Given the description of an element on the screen output the (x, y) to click on. 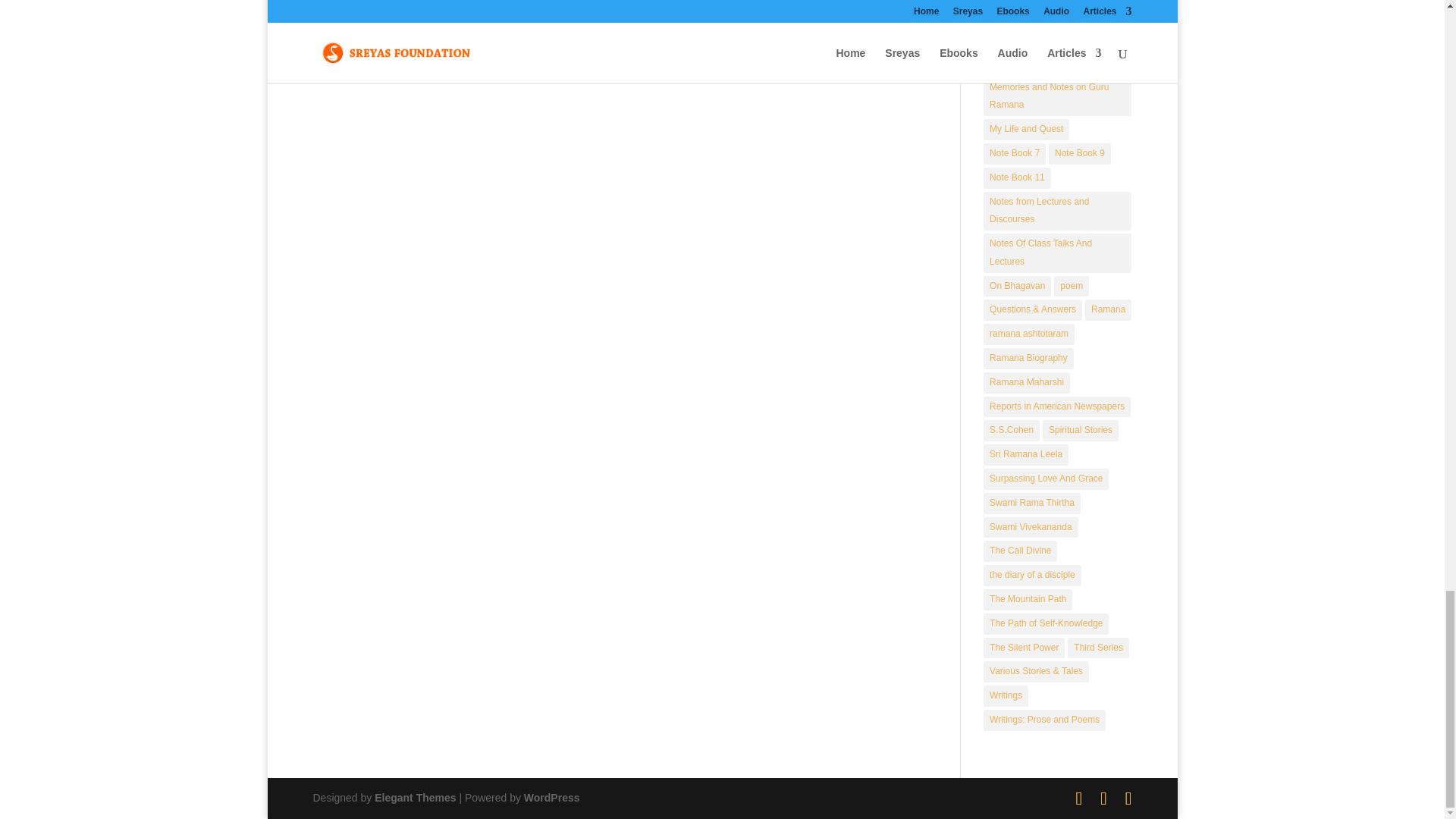
Premium WordPress Themes (414, 797)
